Given the description of an element on the screen output the (x, y) to click on. 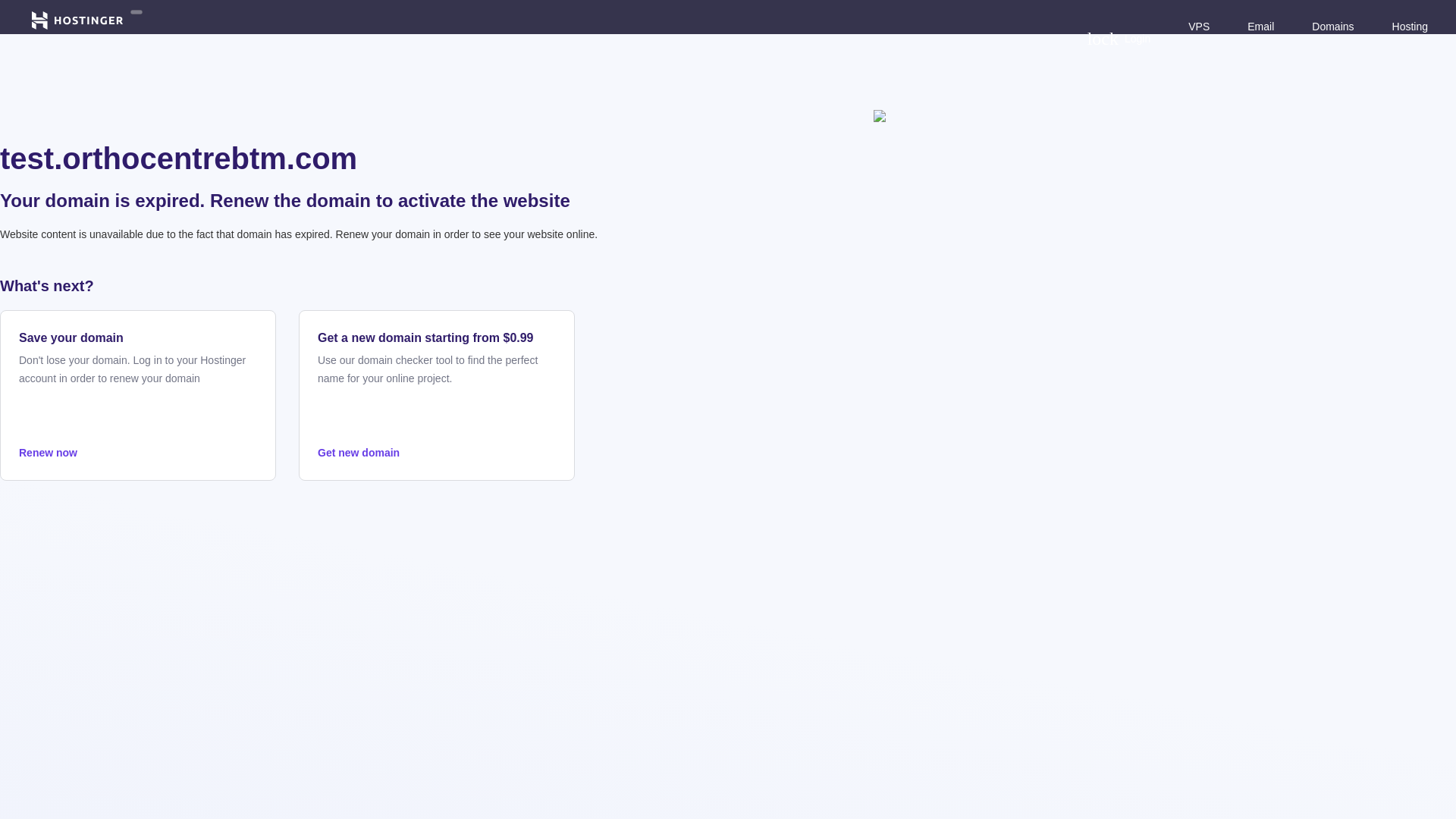
Get new domain (436, 452)
Hosting (1410, 25)
Renew now (137, 452)
Domains (1331, 25)
